Given the description of an element on the screen output the (x, y) to click on. 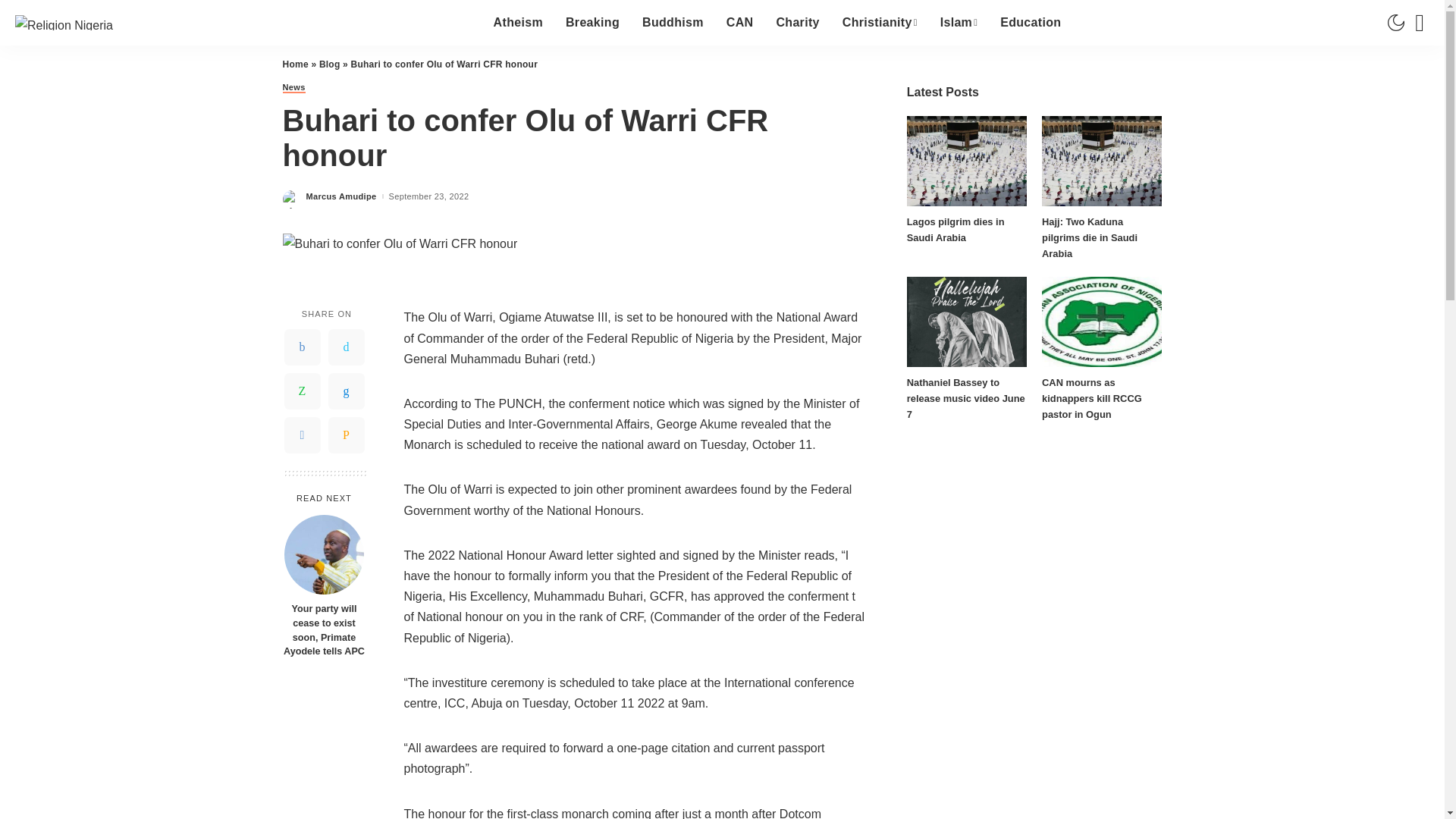
Buddhism (672, 22)
Religion Nigeria (63, 22)
Breaking (592, 22)
CAN (739, 22)
Charity (796, 22)
Atheism (517, 22)
